Given the description of an element on the screen output the (x, y) to click on. 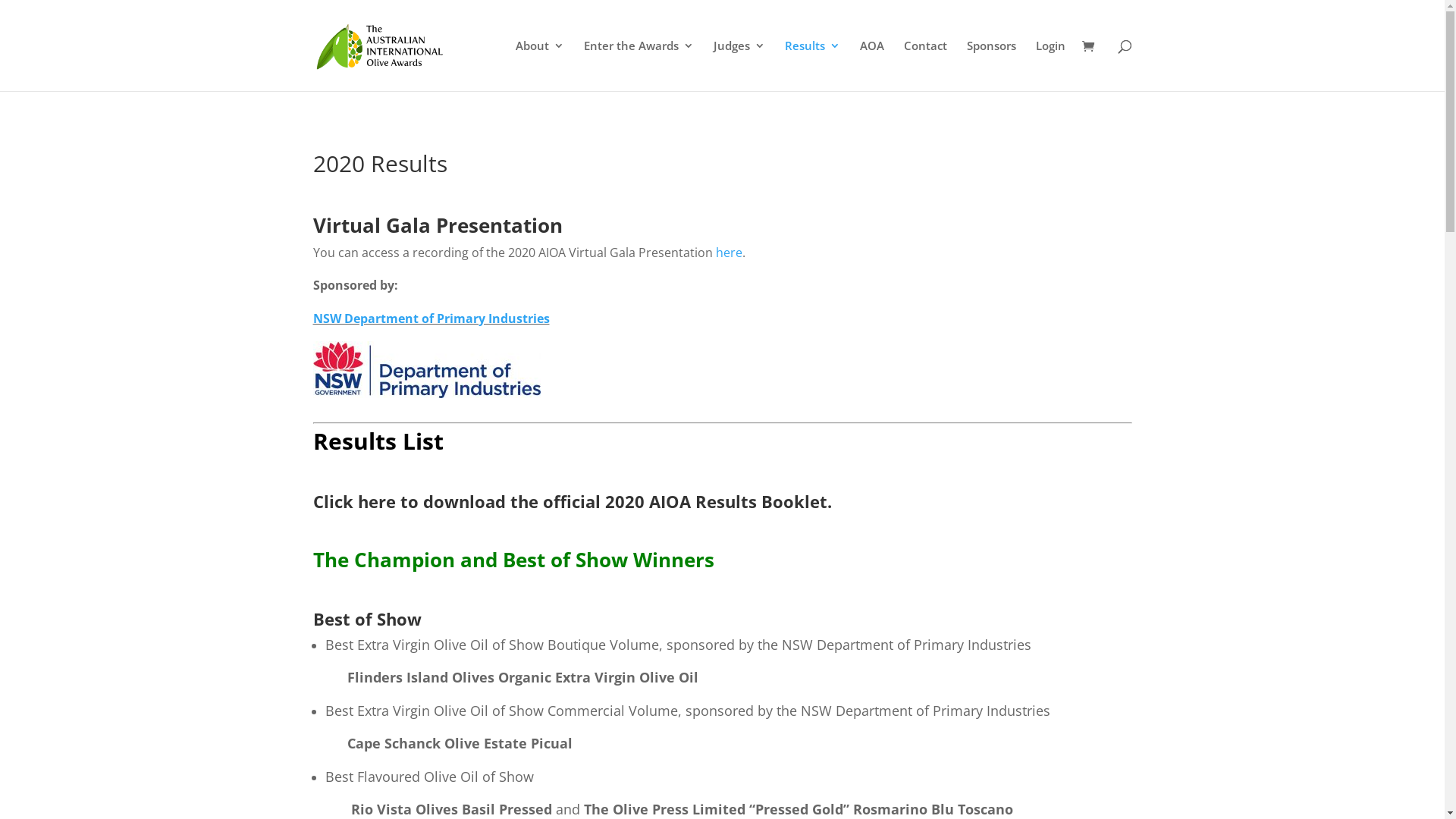
Sponsors Element type: text (990, 65)
Login Element type: text (1050, 65)
AOA Element type: text (871, 65)
Judges Element type: text (738, 65)
here Element type: text (728, 252)
Contact Element type: text (925, 65)
Enter the Awards Element type: text (638, 65)
Results Element type: text (811, 65)
NSW Department of Primary Industries Element type: text (430, 318)
About Element type: text (539, 65)
